Given the description of an element on the screen output the (x, y) to click on. 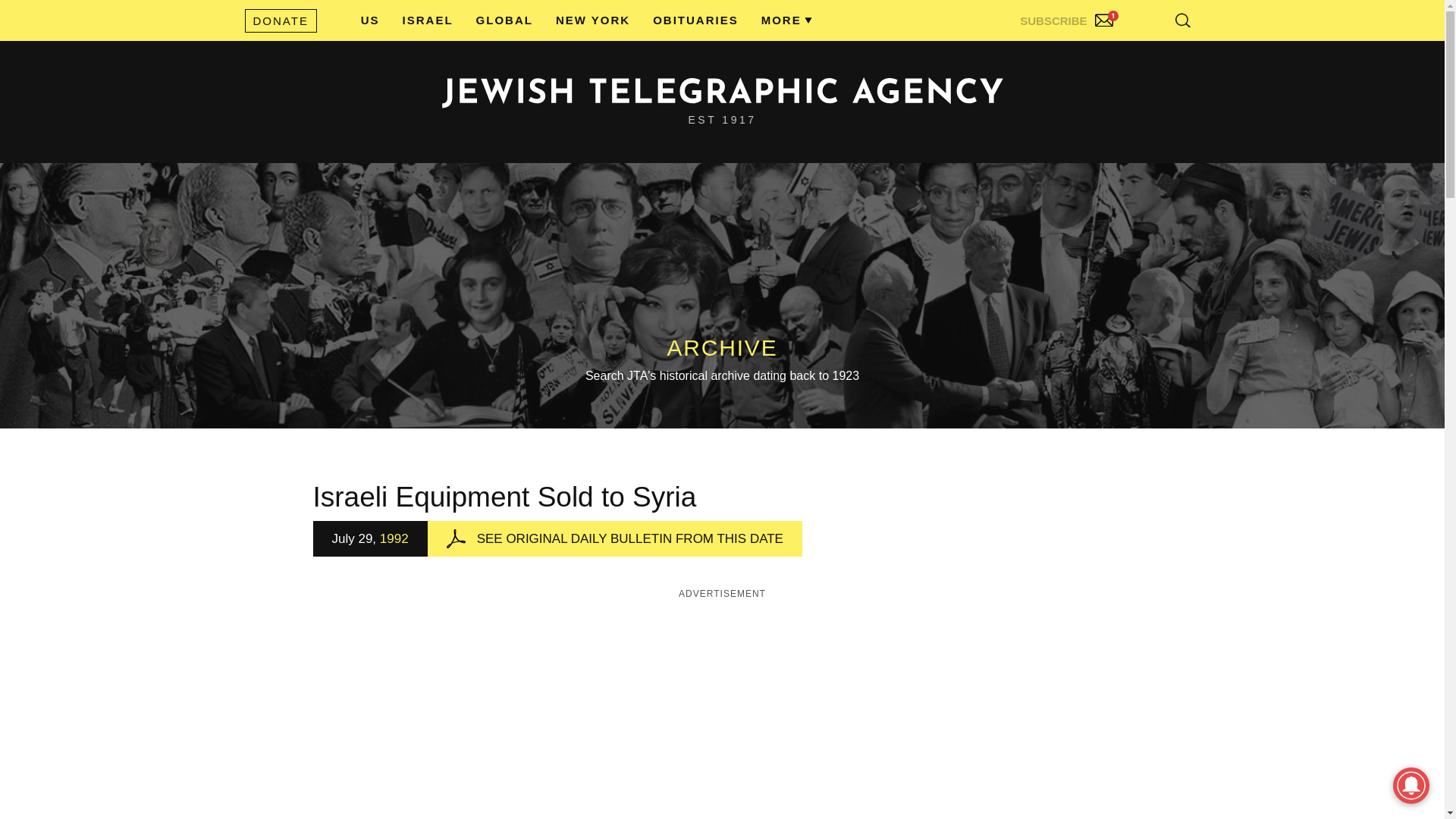
MORE (781, 19)
SUBSCRIBE (1068, 17)
GLOBAL (504, 19)
US (370, 19)
OBITUARIES (695, 19)
DONATE (279, 20)
NEW YORK (593, 19)
ISRAEL (427, 19)
SEARCH TOGGLESEARCH TOGGLE (1182, 20)
Search (1144, 53)
